Given the description of an element on the screen output the (x, y) to click on. 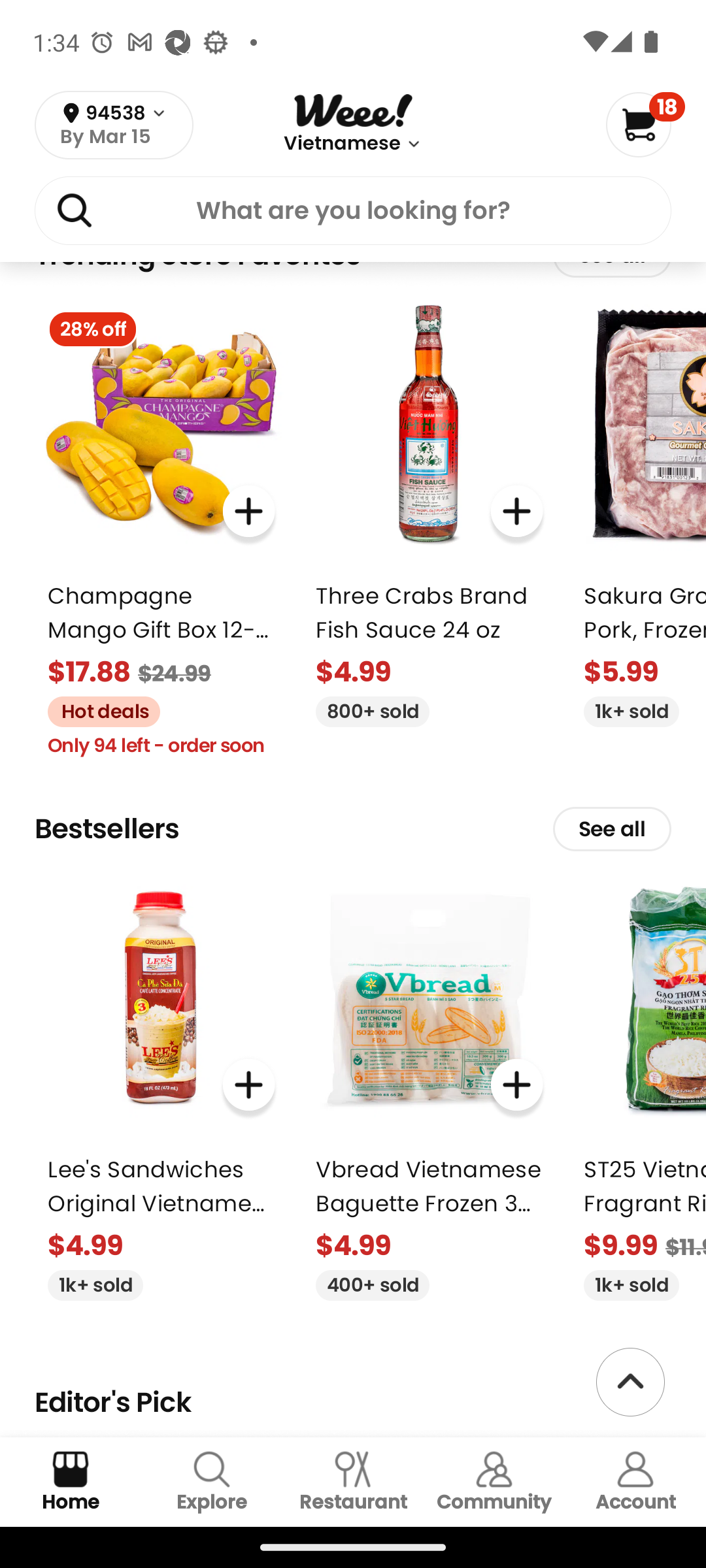
94538 By Mar 15 (113, 124)
18 (644, 124)
Vietnamese (342, 143)
What are you looking for? (353, 213)
What are you looking for? (352, 209)
Three Crabs Brand Fish Sauce 24 oz $4.99 800+ sold (429, 511)
Hot deals (96, 709)
Home (70, 1482)
Explore (211, 1482)
Restaurant (352, 1482)
Community (493, 1482)
Account (635, 1482)
